Given the description of an element on the screen output the (x, y) to click on. 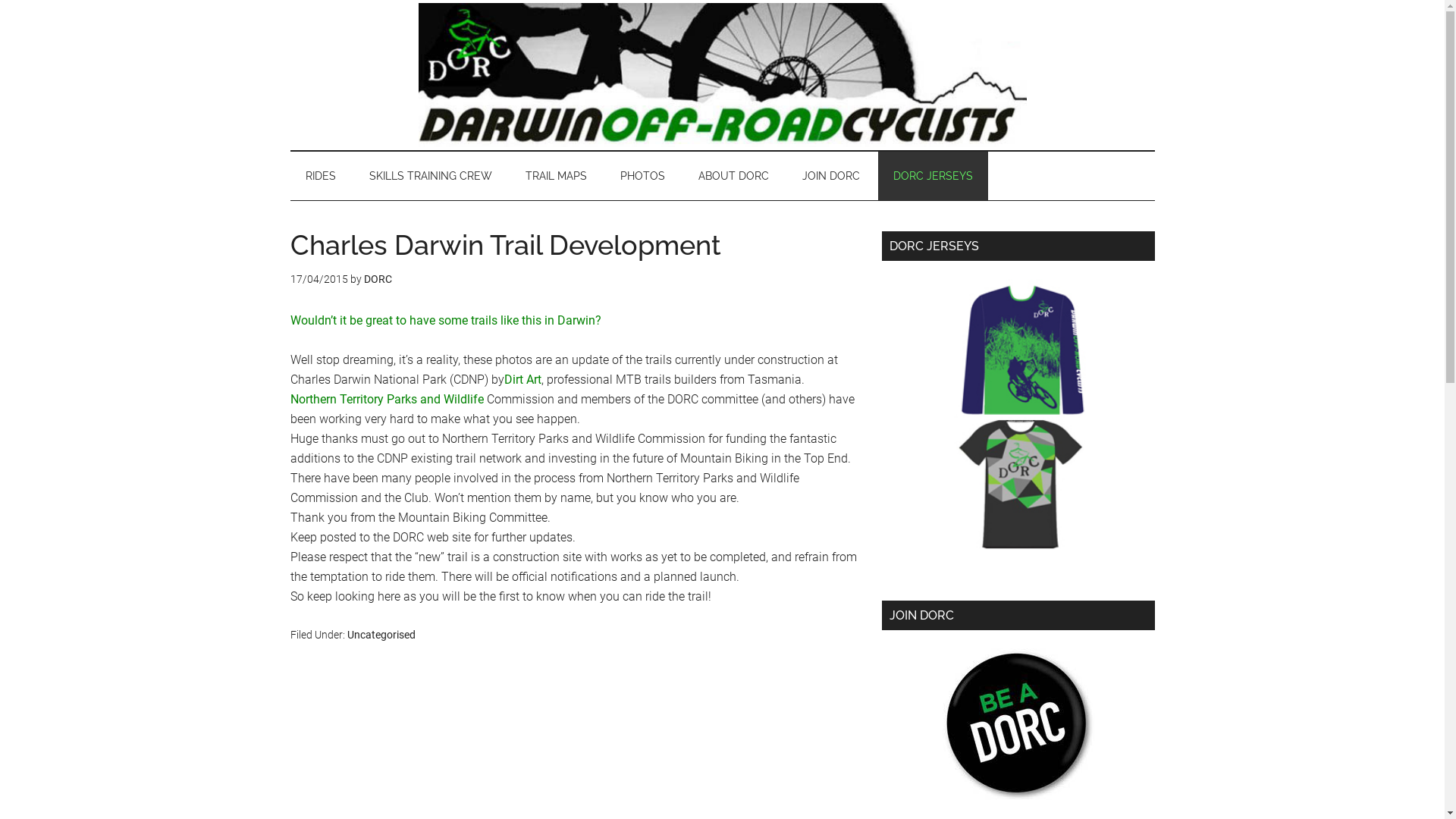
DORC Jerseys Element type: hover (1017, 415)
ABOUT DORC Element type: text (732, 175)
Dirt Art Element type: text (521, 379)
PHOTOS Element type: text (642, 175)
Northern Territory Parks and Wildlife Element type: text (386, 399)
DORC Element type: text (378, 279)
Skip to main content Element type: text (0, 0)
JOIN DORC Element type: text (831, 175)
SKILLS TRAINING CREW Element type: text (429, 175)
Join DORC Element type: hover (1017, 724)
Uncategorised Element type: text (381, 634)
DORC - Darwin Off Road Cyclists Element type: text (721, 75)
TRAIL MAPS Element type: text (555, 175)
RIDES Element type: text (319, 175)
DORC JERSEYS Element type: text (933, 175)
